Given the description of an element on the screen output the (x, y) to click on. 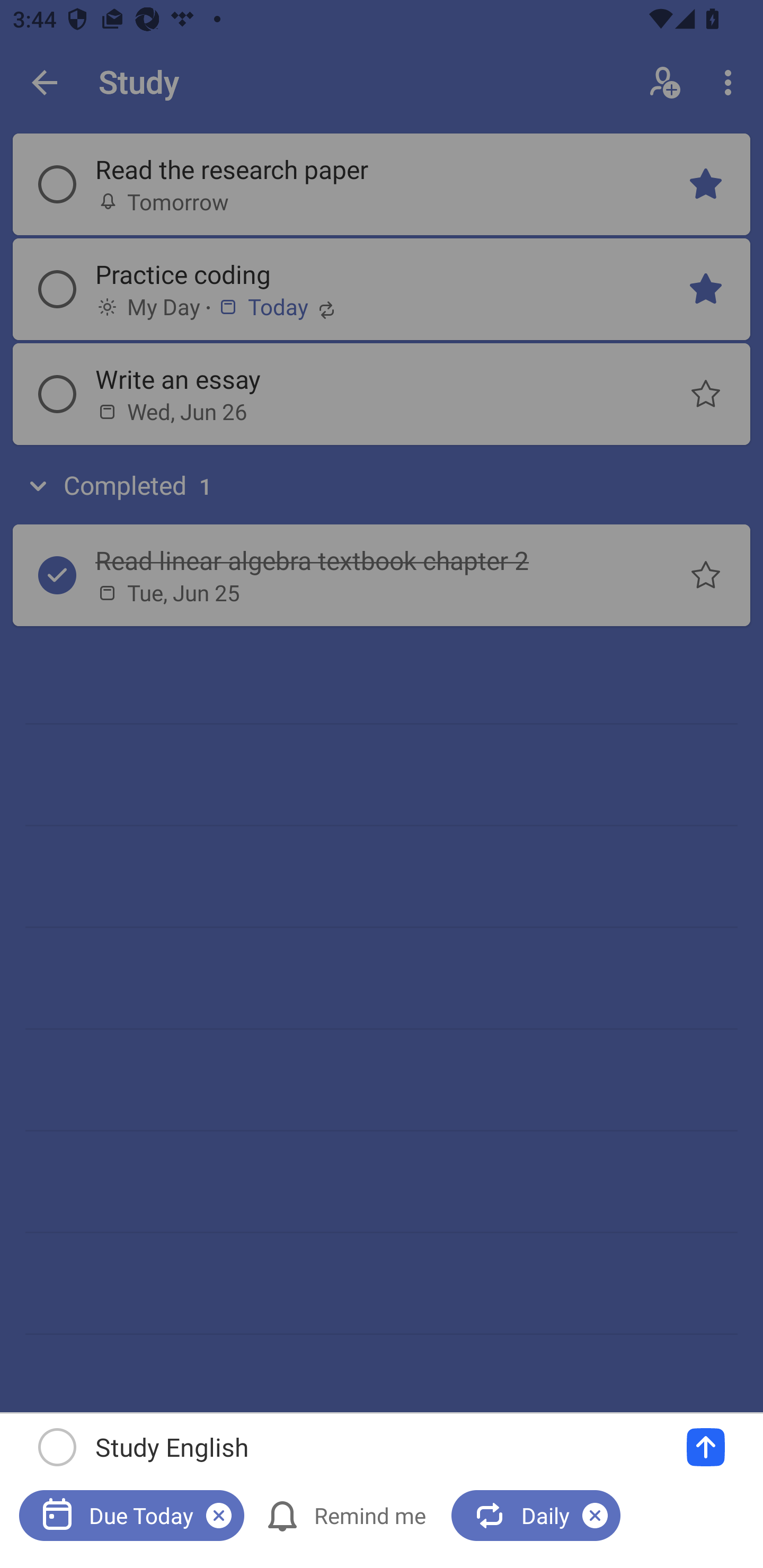
Add a task (705, 1446)
